Given the description of an element on the screen output the (x, y) to click on. 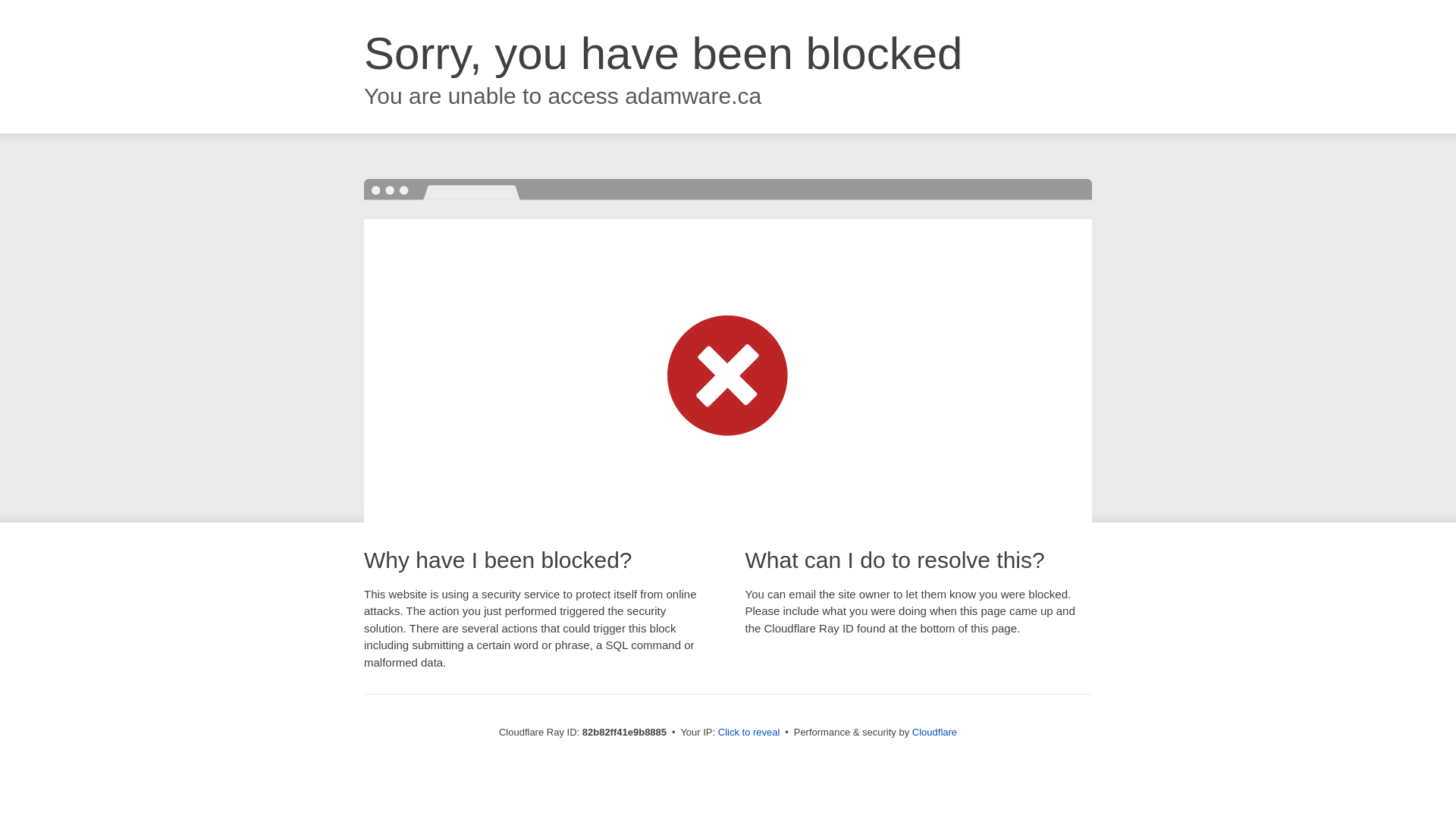
Cloudflare Element type: text (934, 731)
Click to reveal Element type: text (749, 732)
